Given the description of an element on the screen output the (x, y) to click on. 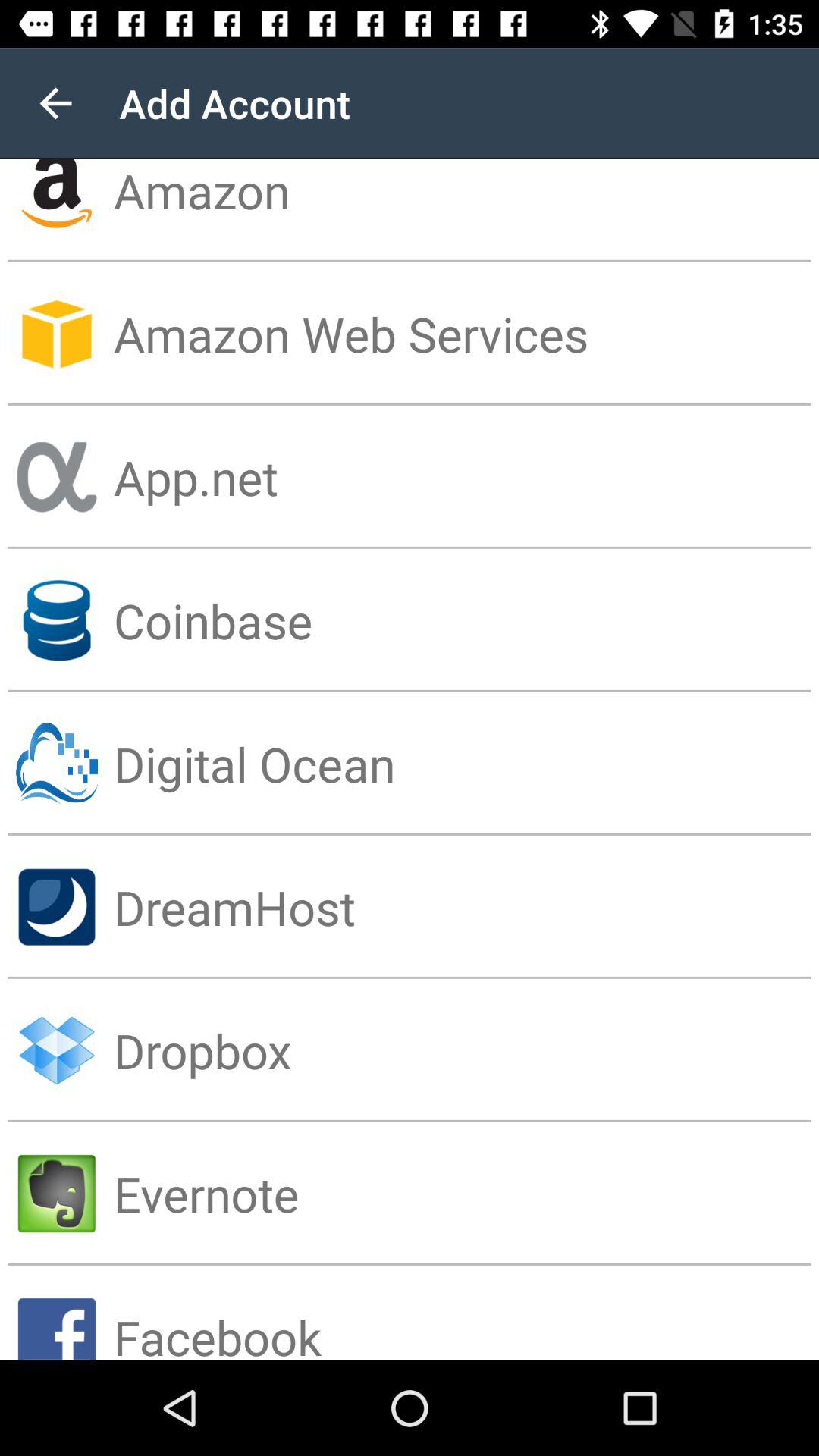
flip until the evernote icon (466, 1193)
